Given the description of an element on the screen output the (x, y) to click on. 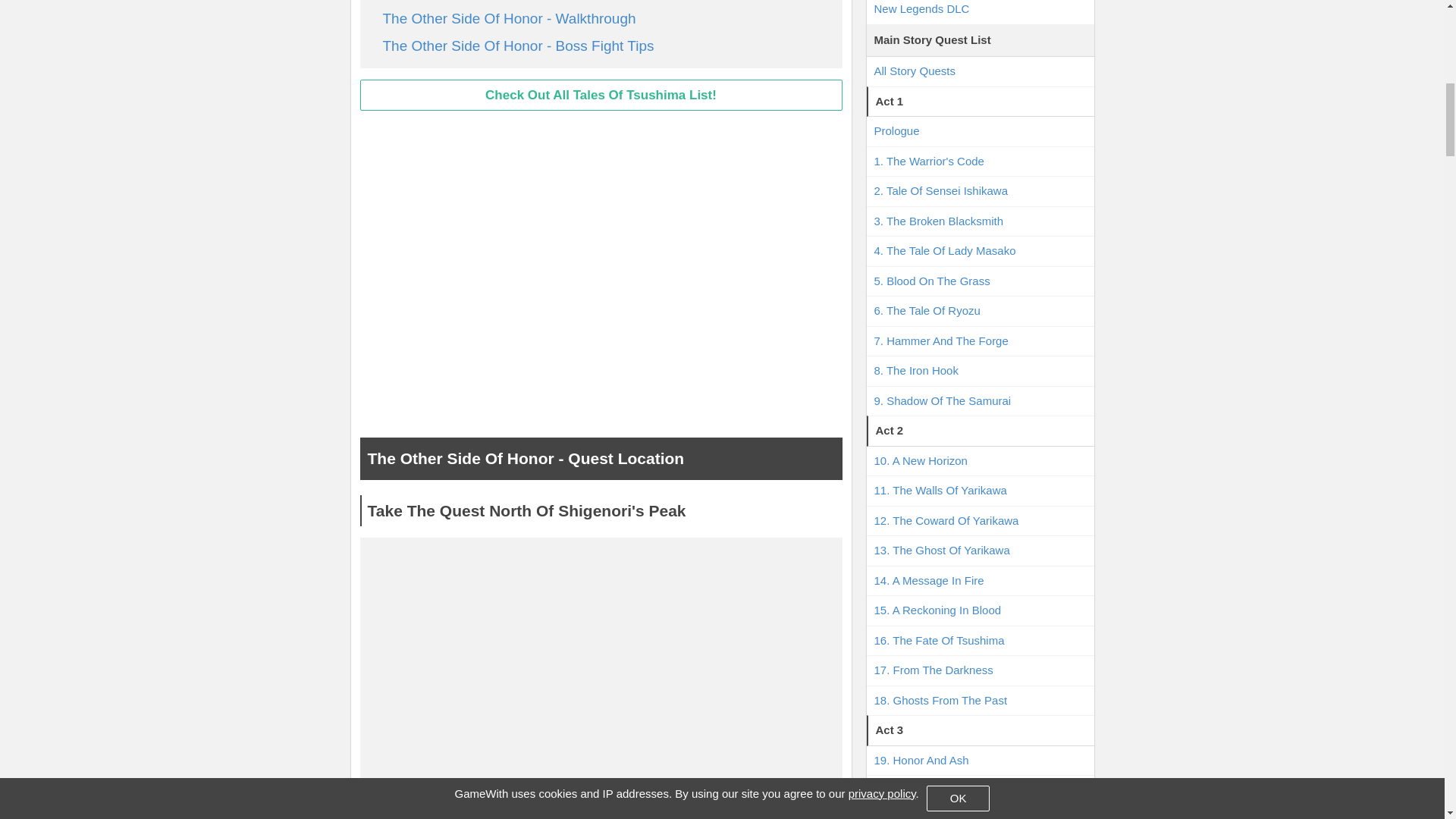
The Other Side Of Honor - Boss Fight Tips (517, 45)
The Other Side Of Honor - Walkthrough (507, 18)
Check Out All Tales Of Tsushima List! (600, 95)
